Given the description of an element on the screen output the (x, y) to click on. 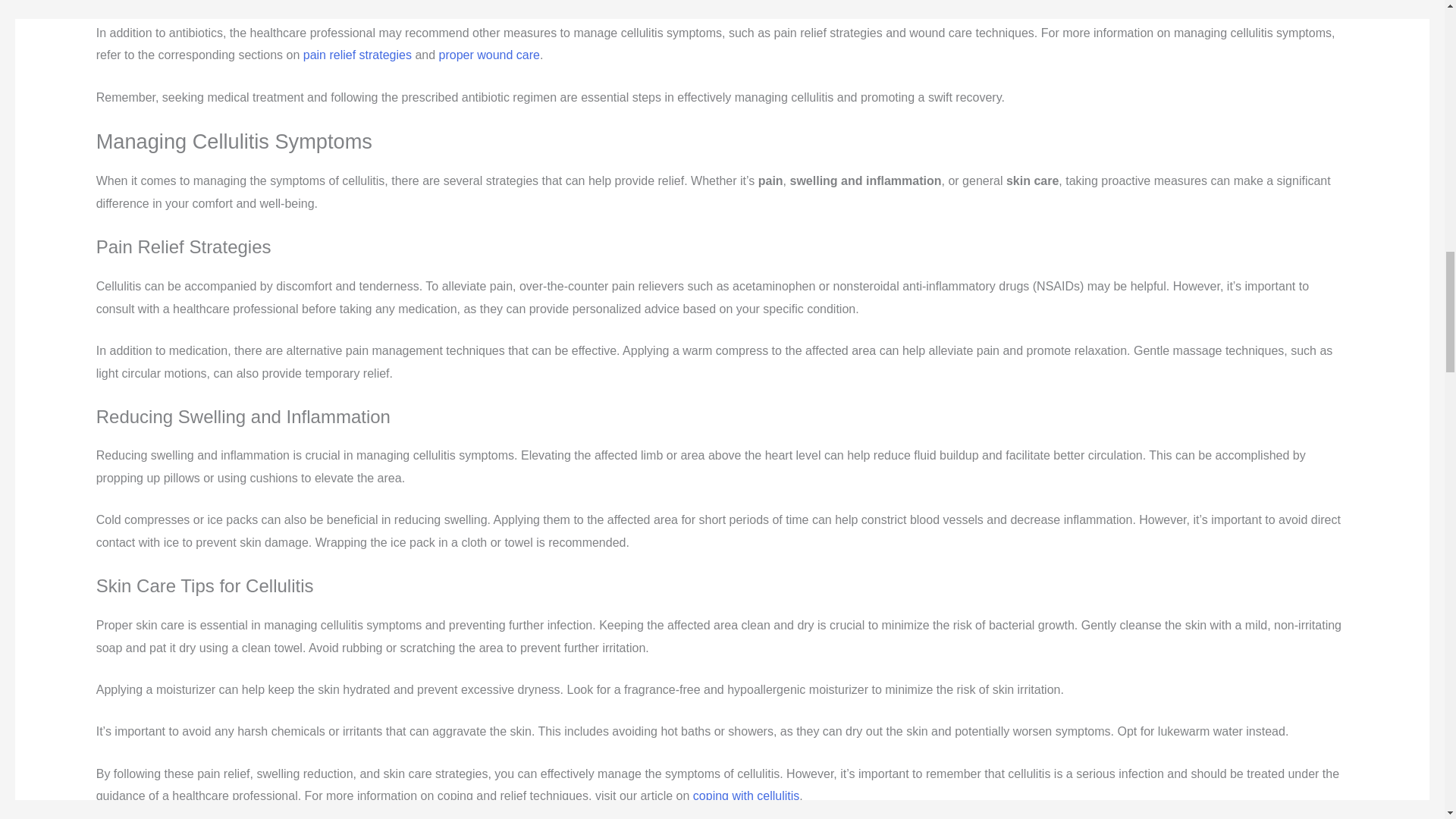
pain relief strategies (357, 54)
coping with cellulitis (746, 795)
proper wound care (489, 54)
